Given the description of an element on the screen output the (x, y) to click on. 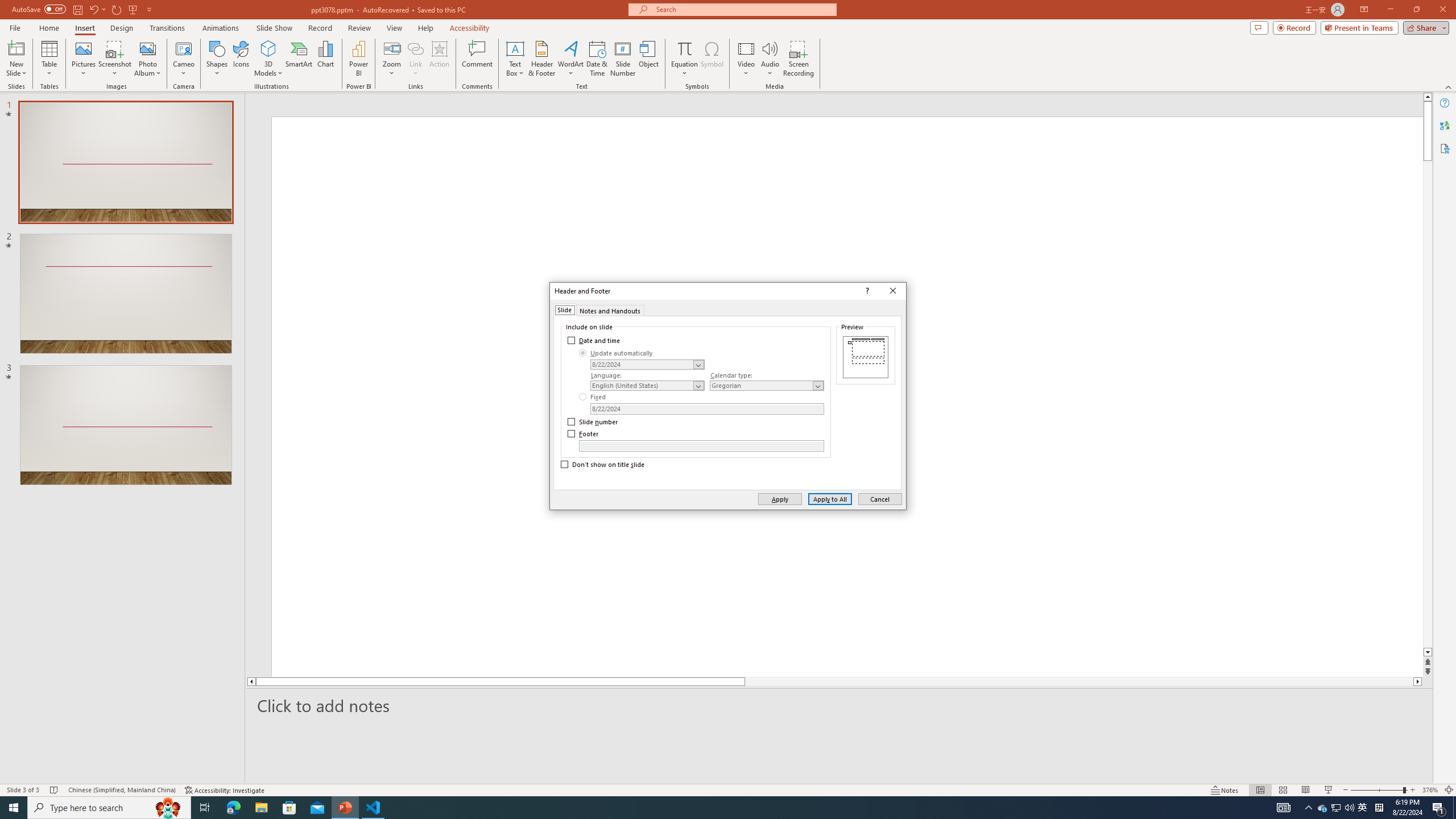
Equation (683, 48)
Calendar type (767, 385)
Power BI (358, 58)
Update automatically (616, 352)
An abstract genetic concept (363, 526)
Screen Recording... (798, 58)
